Given the description of an element on the screen output the (x, y) to click on. 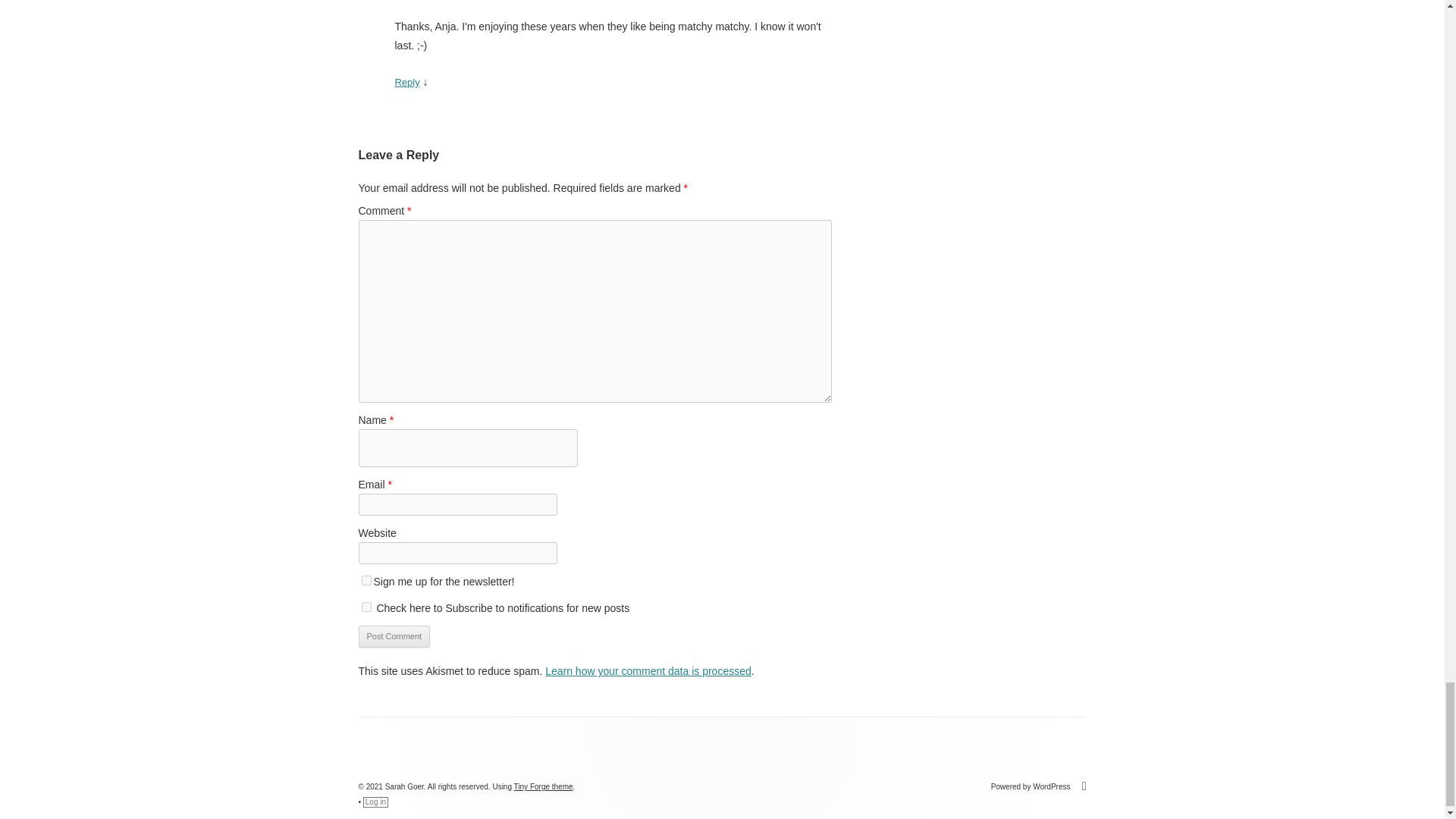
1 (366, 580)
Semantic Personal Publishing Platform (1038, 786)
Post Comment (393, 636)
1 (366, 606)
